Given the description of an element on the screen output the (x, y) to click on. 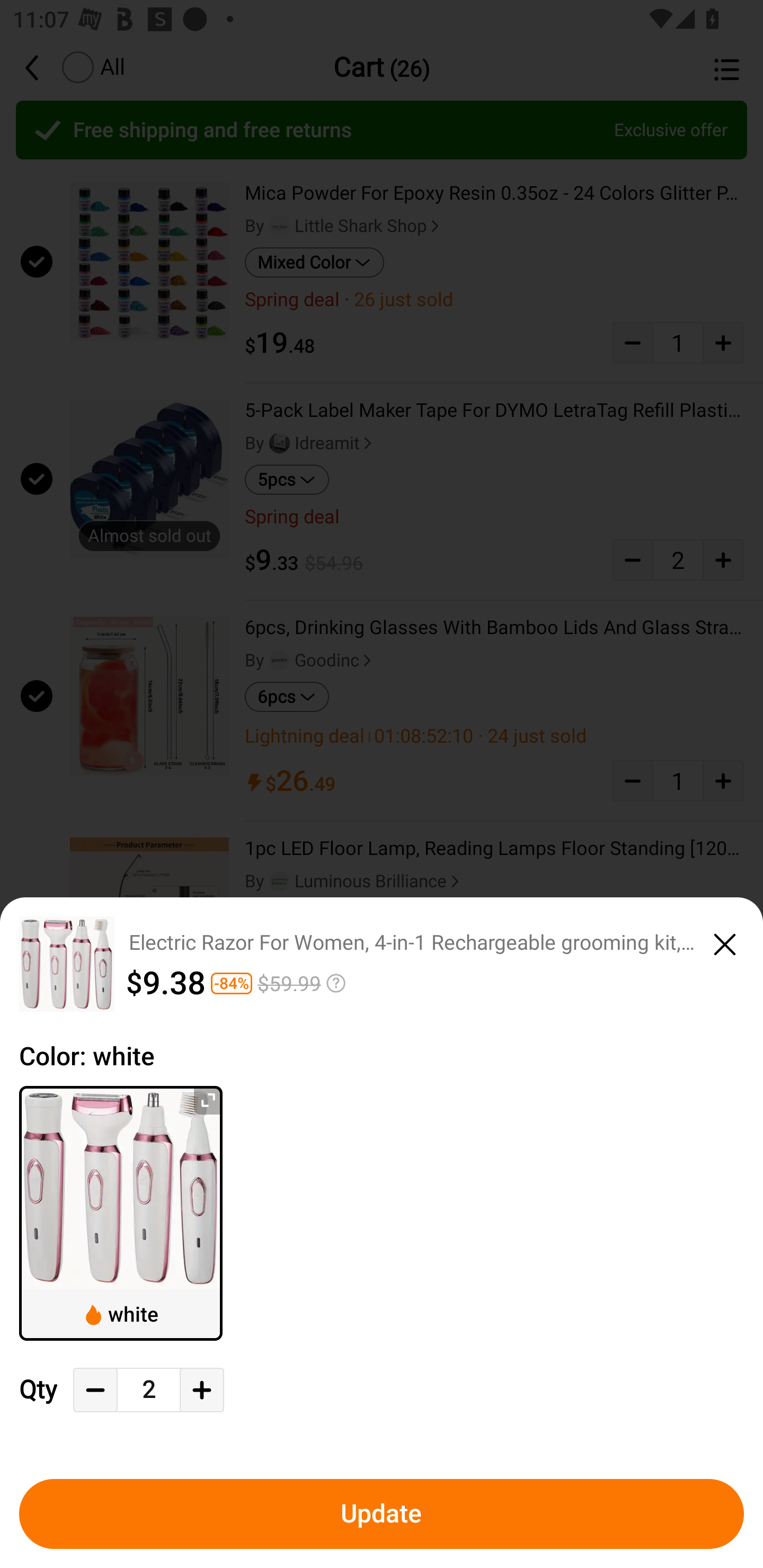
close (724, 941)
white ￼white (120, 1213)
Decrease Quantity Button (95, 1389)
Add Quantity Button (201, 1389)
2 (148, 1389)
Update (381, 1513)
